Given the description of an element on the screen output the (x, y) to click on. 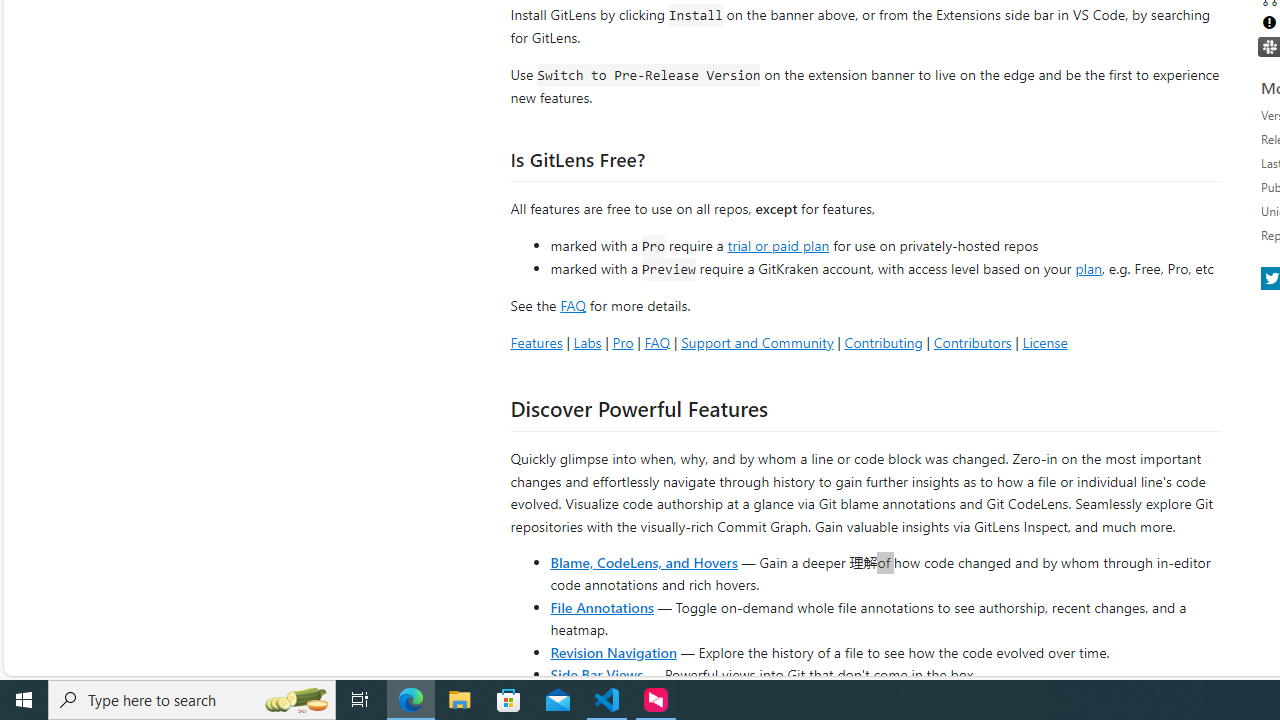
plan (1088, 269)
Labs (587, 341)
Features (536, 341)
Side Bar Views (596, 673)
Contributors (972, 341)
File Annotations (602, 606)
Revision Navigation (613, 651)
Pro (622, 341)
Contributing (882, 341)
License (1044, 341)
Blame, CodeLens, and Hovers (644, 561)
